Given the description of an element on the screen output the (x, y) to click on. 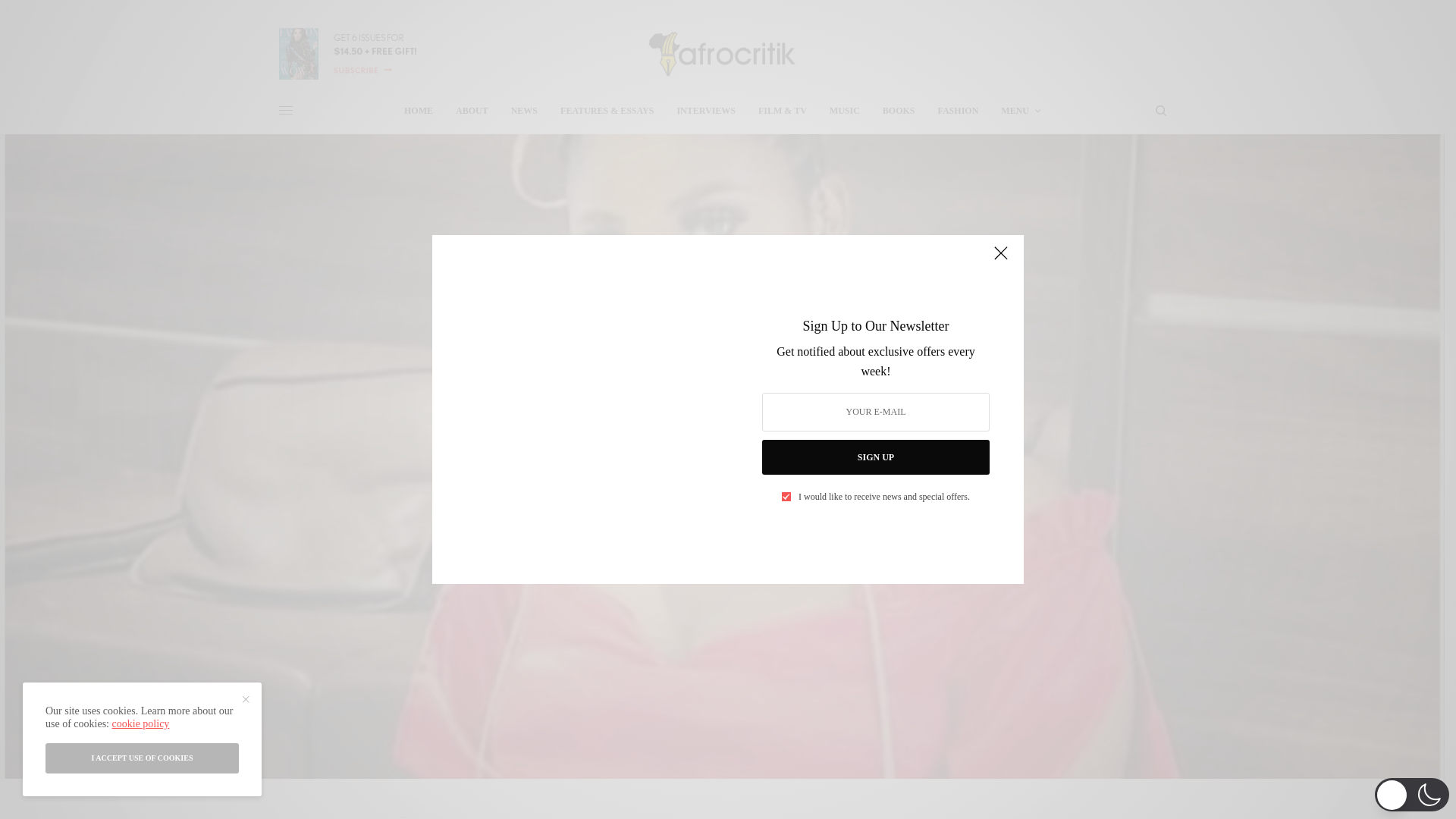
FASHION (957, 110)
FEATURES AND ESSAYS (722, 403)
SIGN UP (875, 457)
INTERVIEWS (706, 110)
Afrocritik (721, 53)
